Given the description of an element on the screen output the (x, y) to click on. 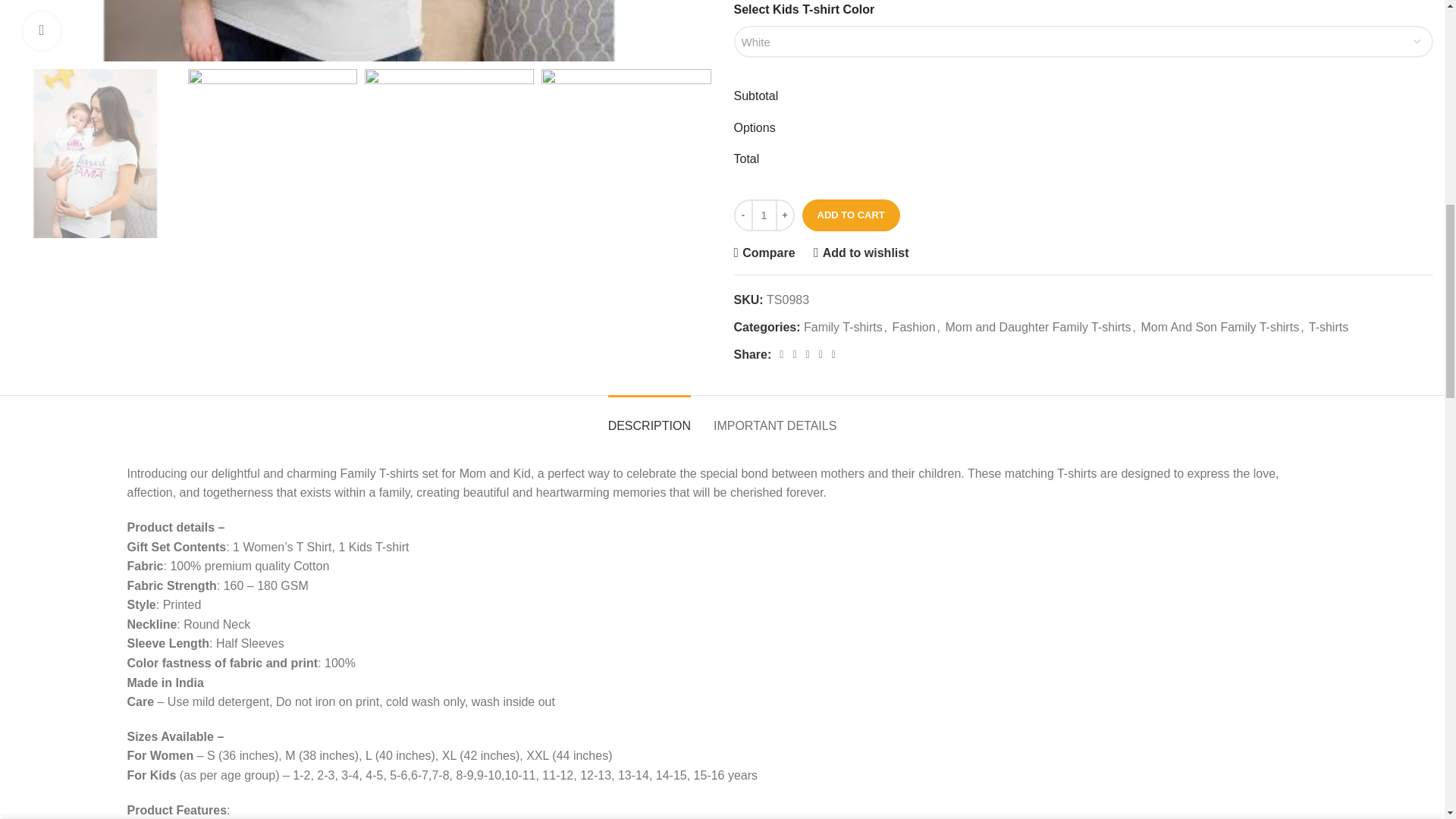
54 (361, 30)
